Given the description of an element on the screen output the (x, y) to click on. 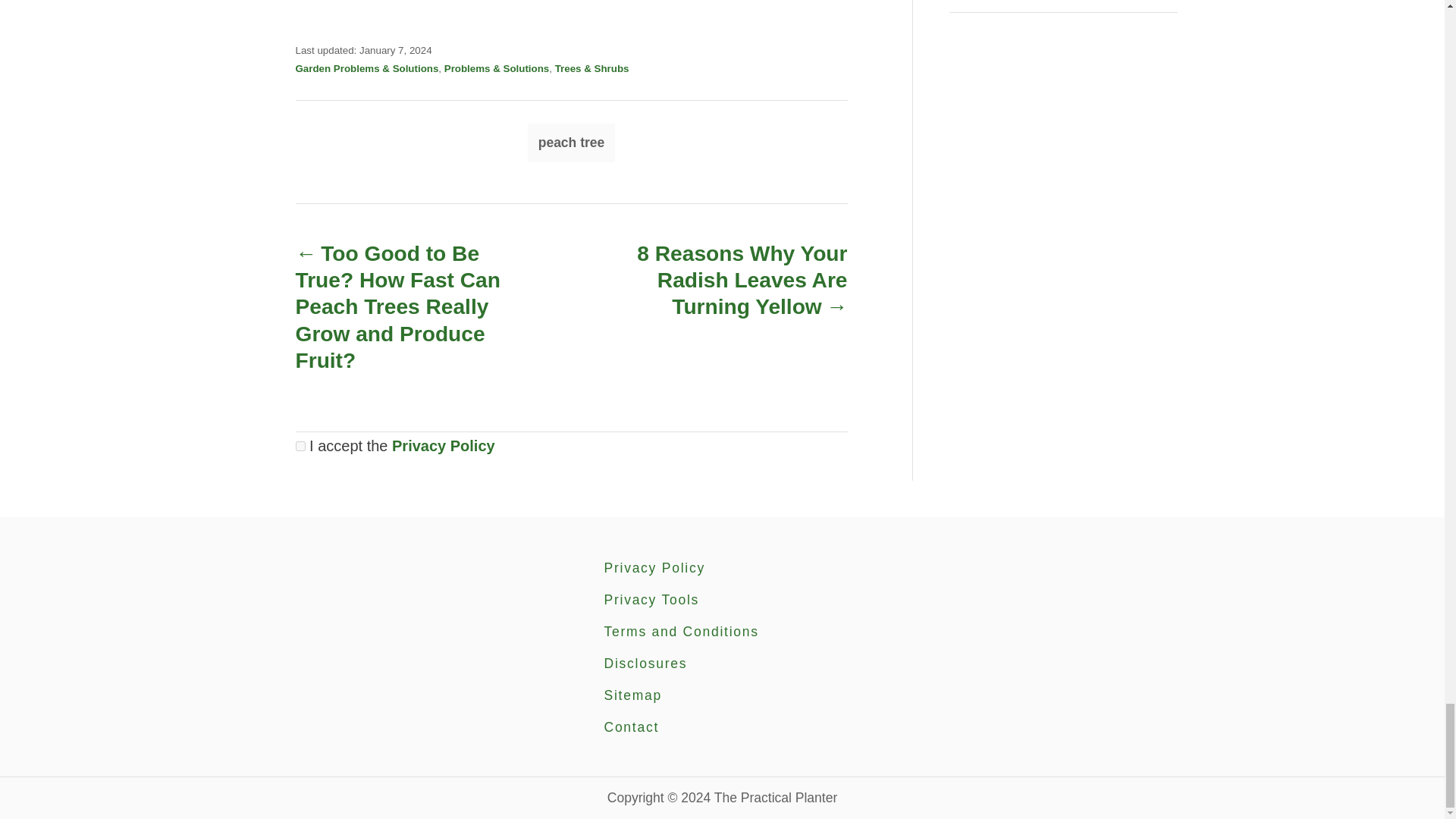
1 (300, 446)
